Given the description of an element on the screen output the (x, y) to click on. 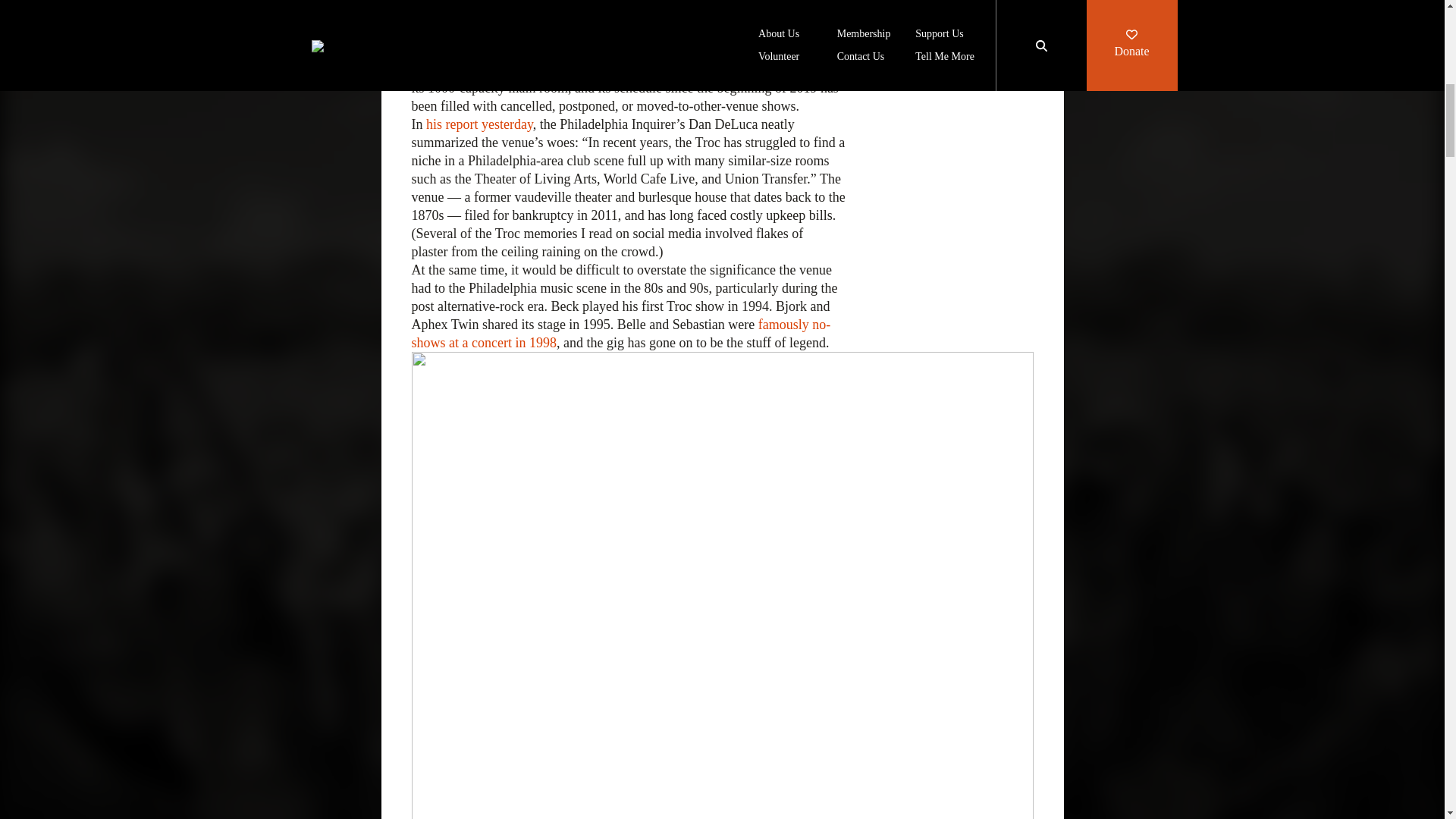
his report yesterday (479, 124)
reports that the venue is closing (641, 14)
famously no-shows at a concert in 1998 (619, 333)
